Given the description of an element on the screen output the (x, y) to click on. 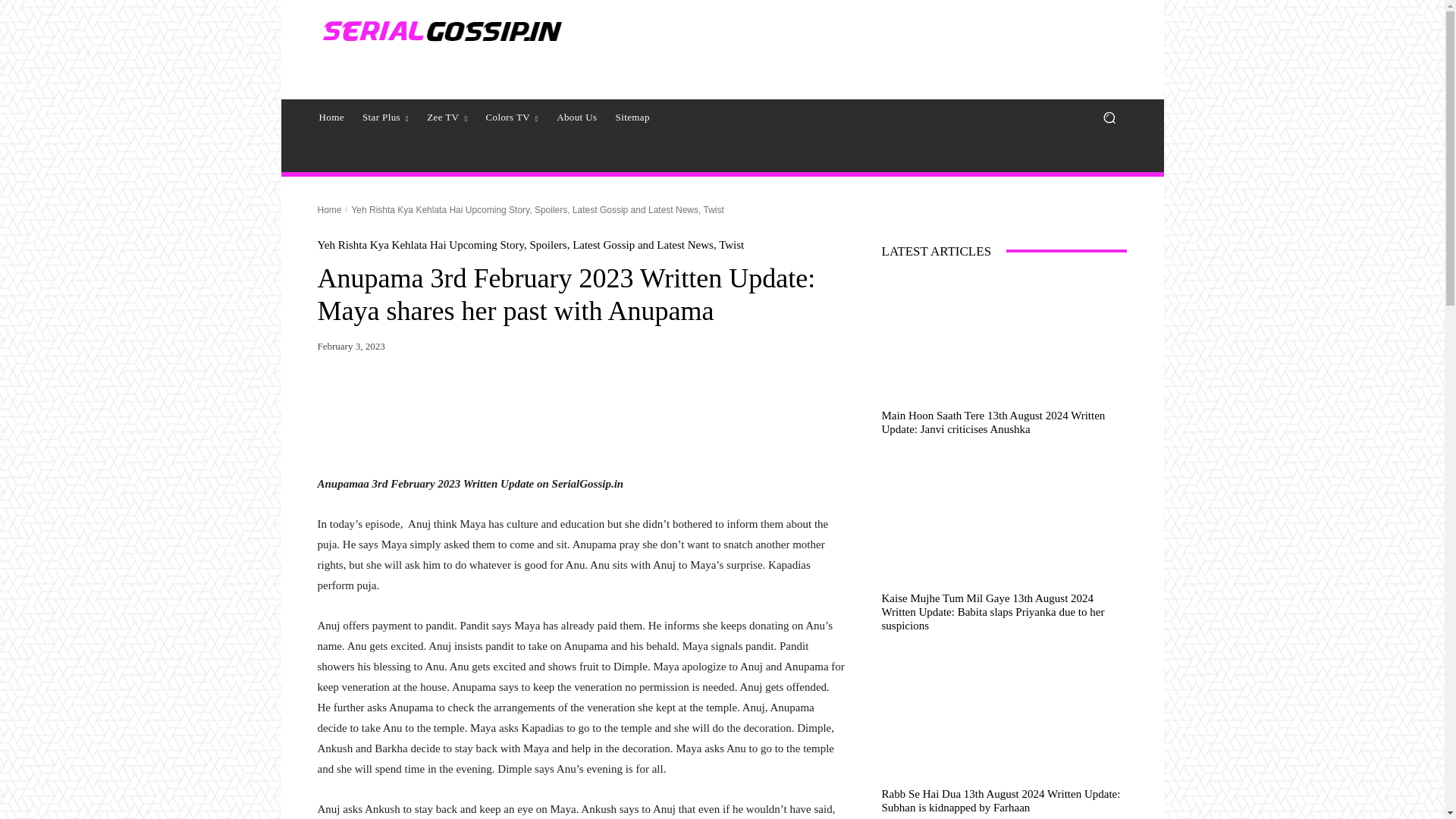
About Us (576, 117)
Star Plus (385, 117)
HOME (330, 117)
Sitemap (633, 117)
STAR PLUS (385, 117)
Home (330, 117)
Colors TV (511, 117)
Zee TV (446, 117)
Serial Gossip (439, 31)
